Given the description of an element on the screen output the (x, y) to click on. 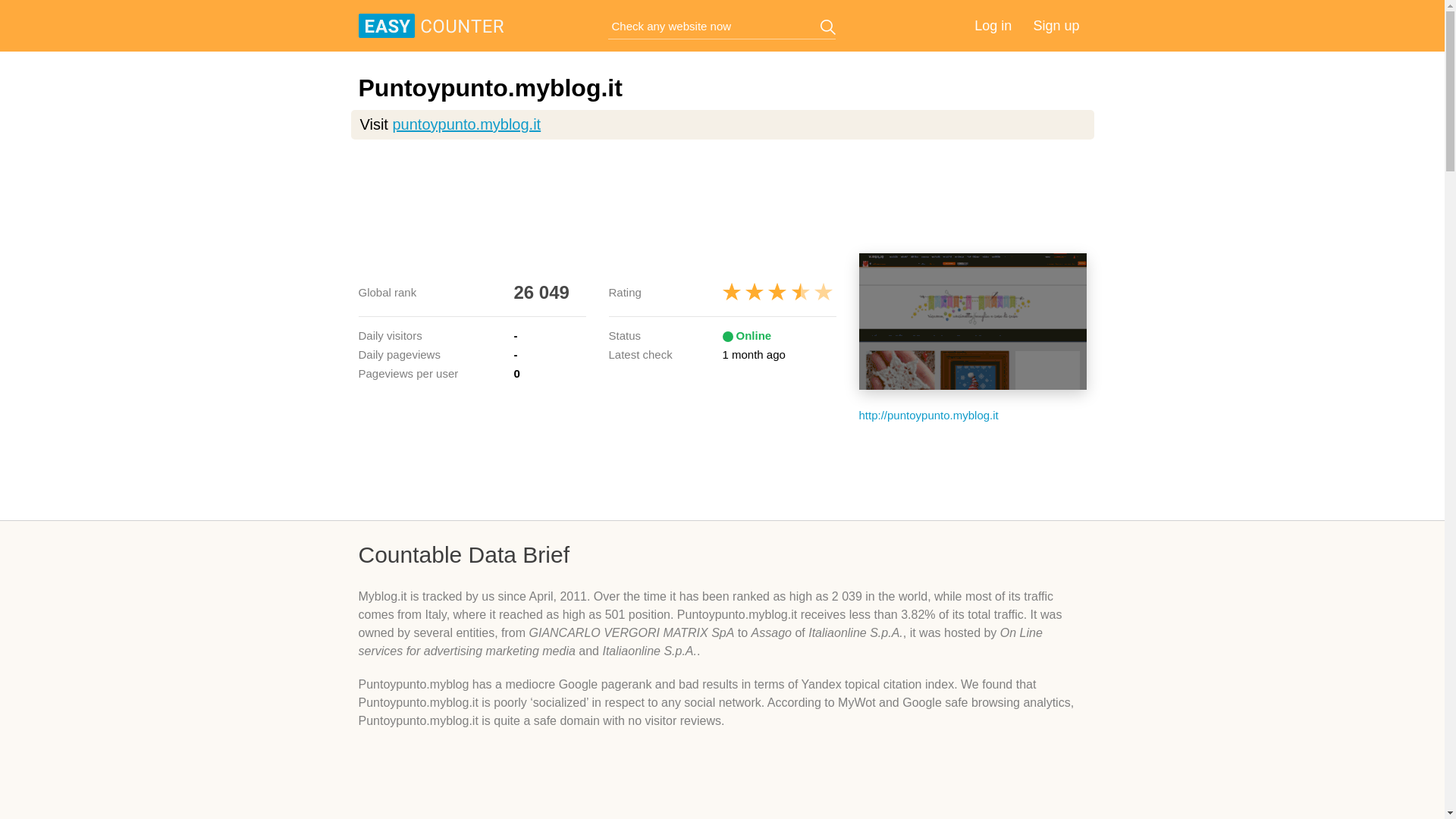
Puntoypunto.myblog.it thumbnail (972, 321)
Log in (992, 25)
puntoypunto.myblog.it (465, 124)
Sign up (1056, 25)
